Given the description of an element on the screen output the (x, y) to click on. 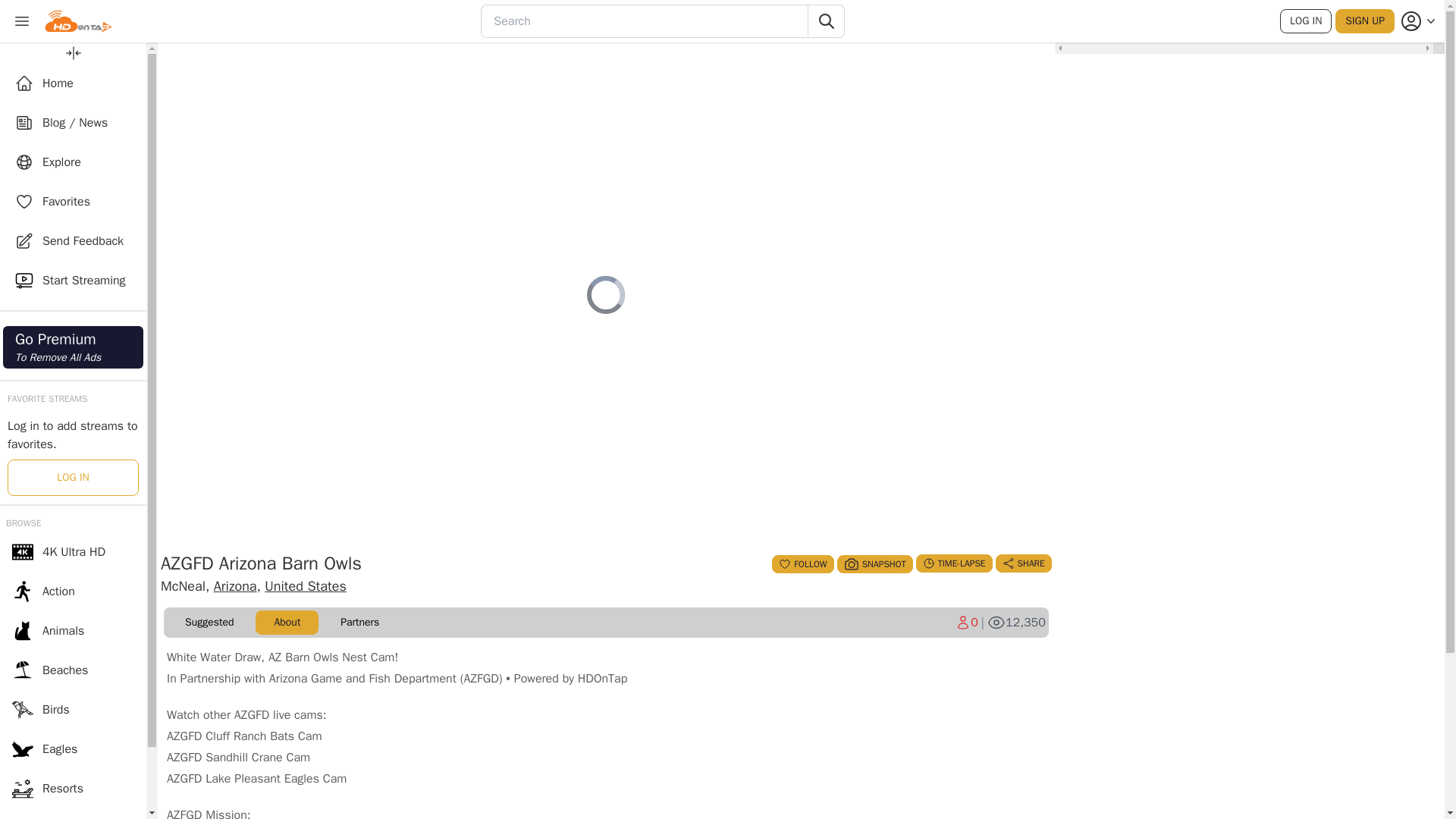
LOG IN (1305, 21)
Eagles (73, 749)
Send Feedback (72, 240)
Total views (1016, 622)
Explore (72, 162)
Resorts (73, 788)
Birds (73, 709)
Current viewers (966, 622)
Follow this stream (801, 564)
FOLLOW (801, 564)
